Given the description of an element on the screen output the (x, y) to click on. 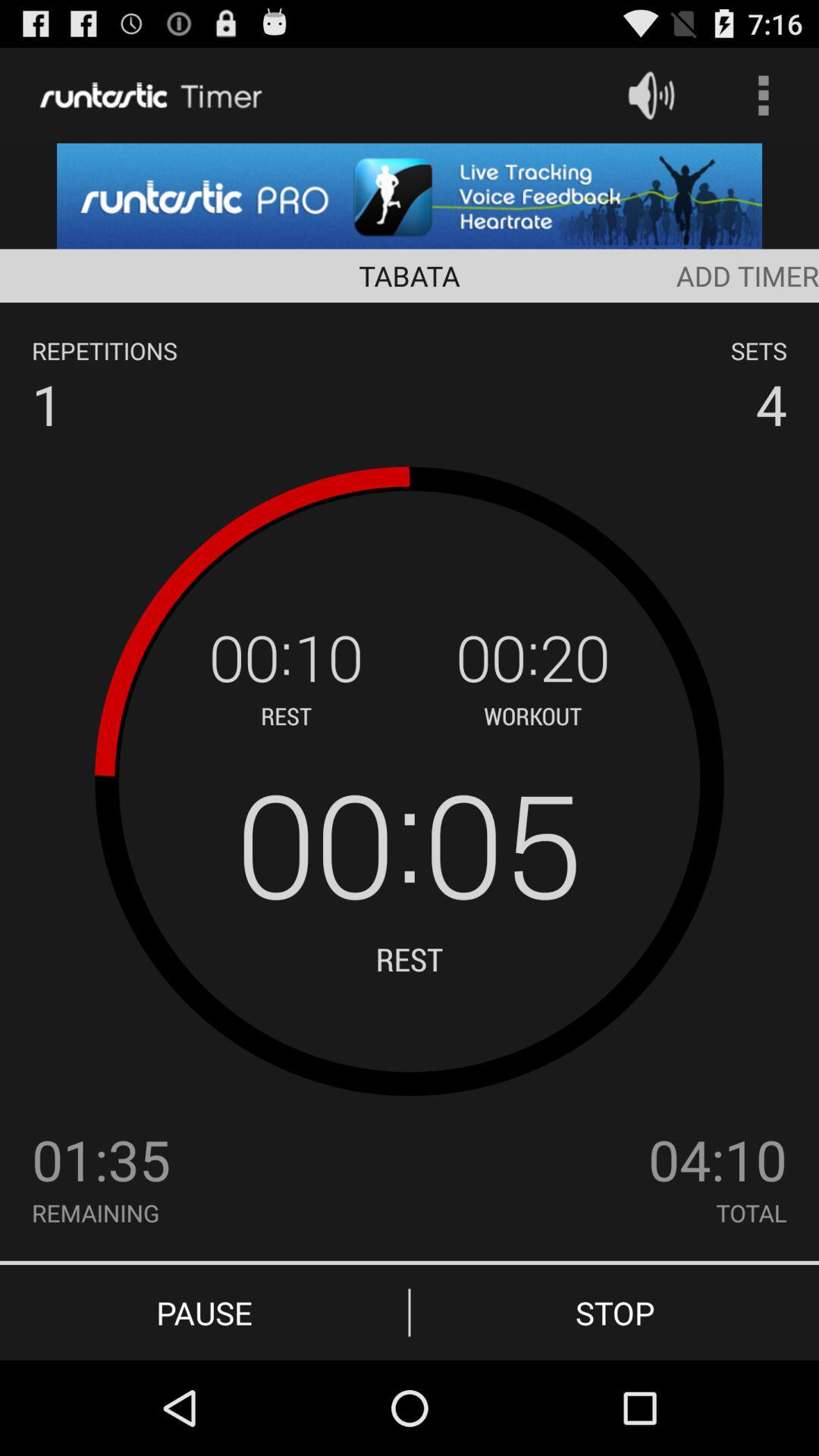
choose the stop (614, 1312)
